Given the description of an element on the screen output the (x, y) to click on. 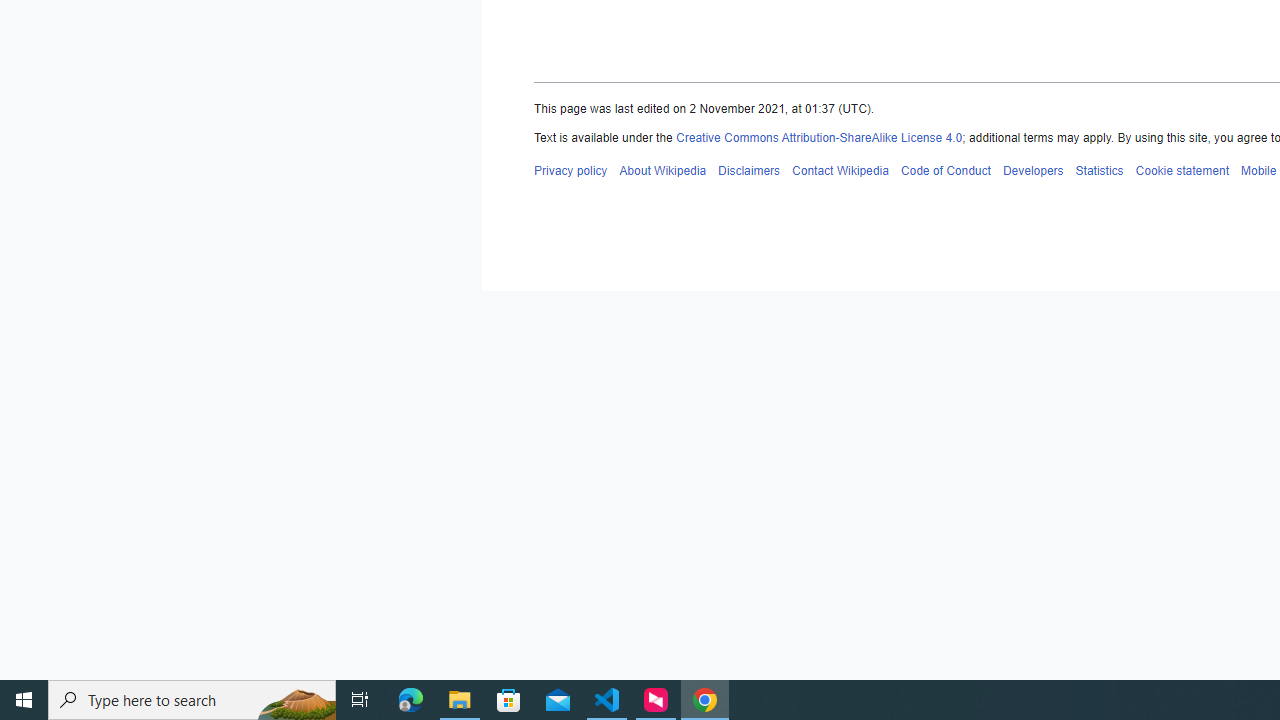
Creative Commons Attribution-ShareAlike License 4.0 (818, 138)
Statistics (1099, 169)
